Given the description of an element on the screen output the (x, y) to click on. 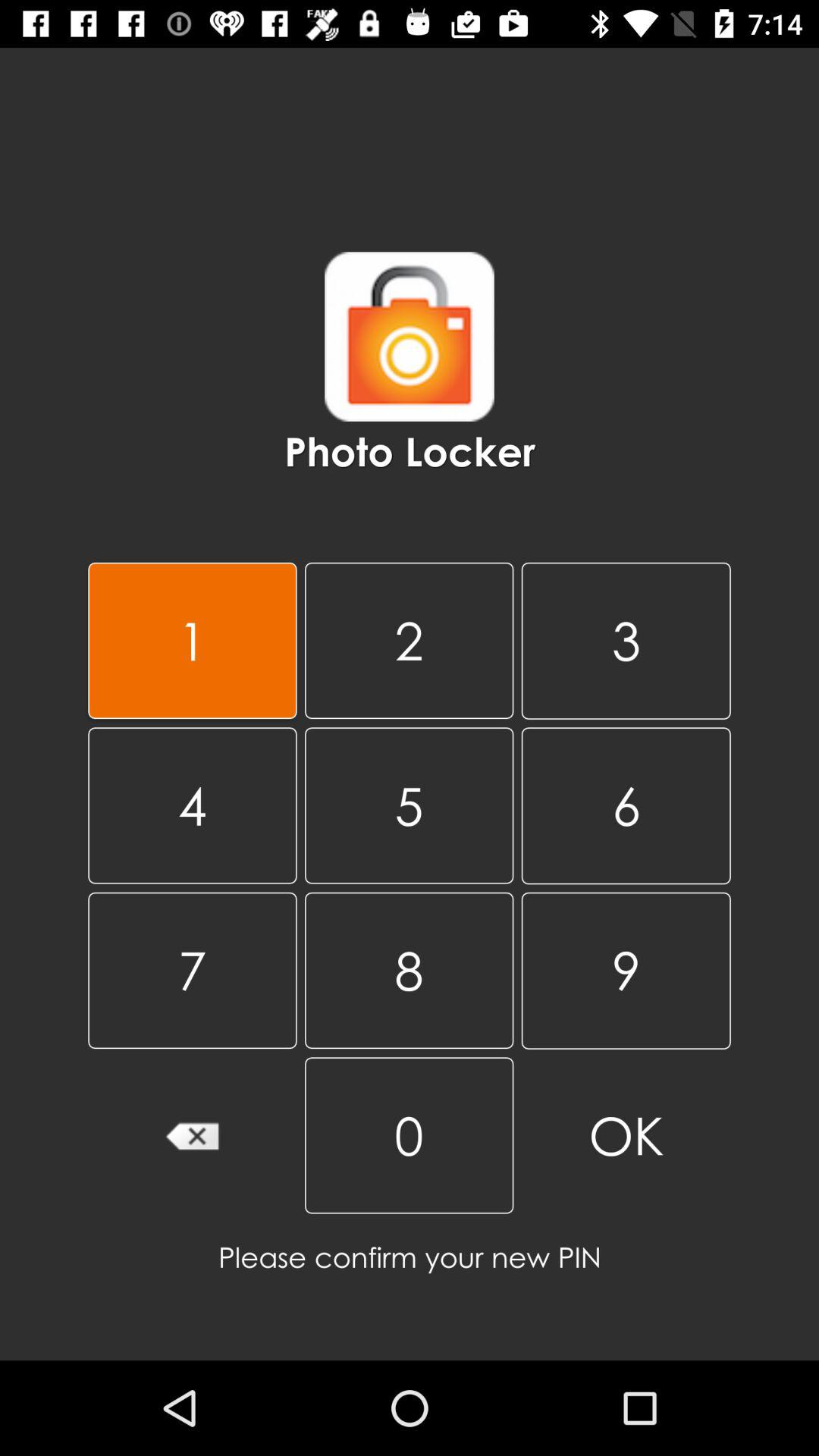
tap the icon below the 9 (408, 1135)
